Given the description of an element on the screen output the (x, y) to click on. 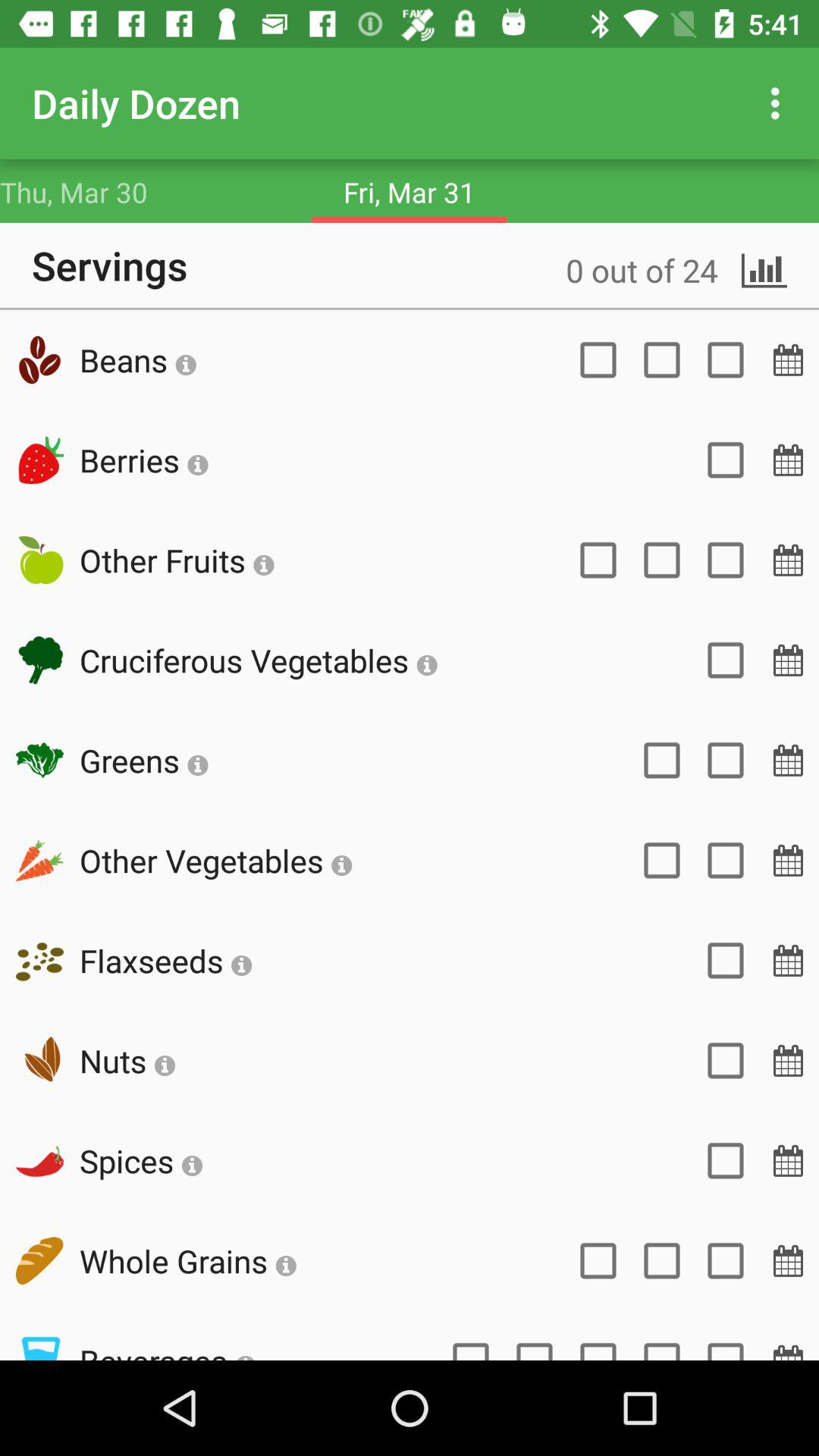
turn on item to the left of 0 out of item (137, 359)
